Given the description of an element on the screen output the (x, y) to click on. 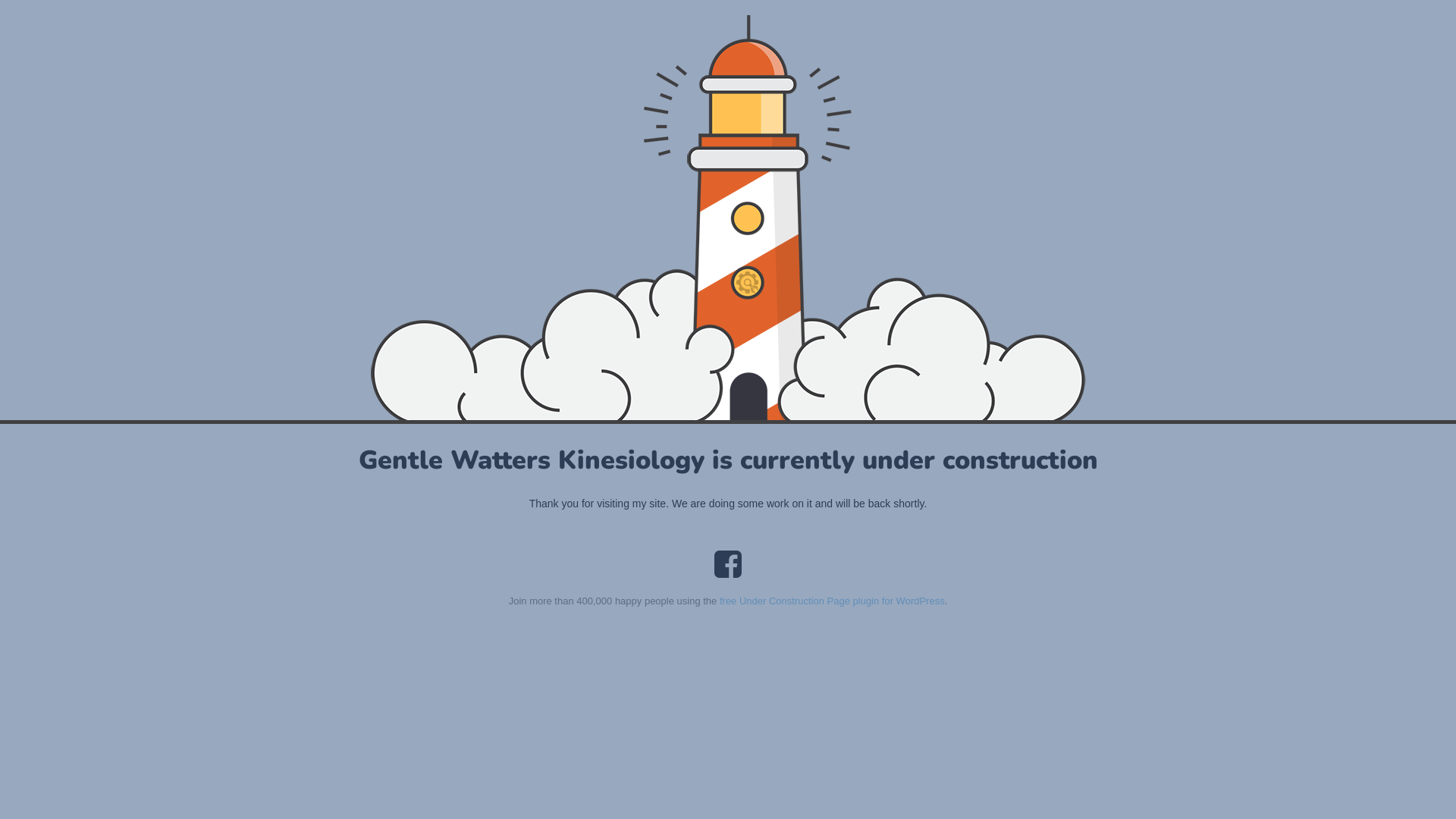
Lighthouse Element type: hover (727, 217)
free Under Construction Page plugin for WordPress Element type: text (831, 600)
